Given the description of an element on the screen output the (x, y) to click on. 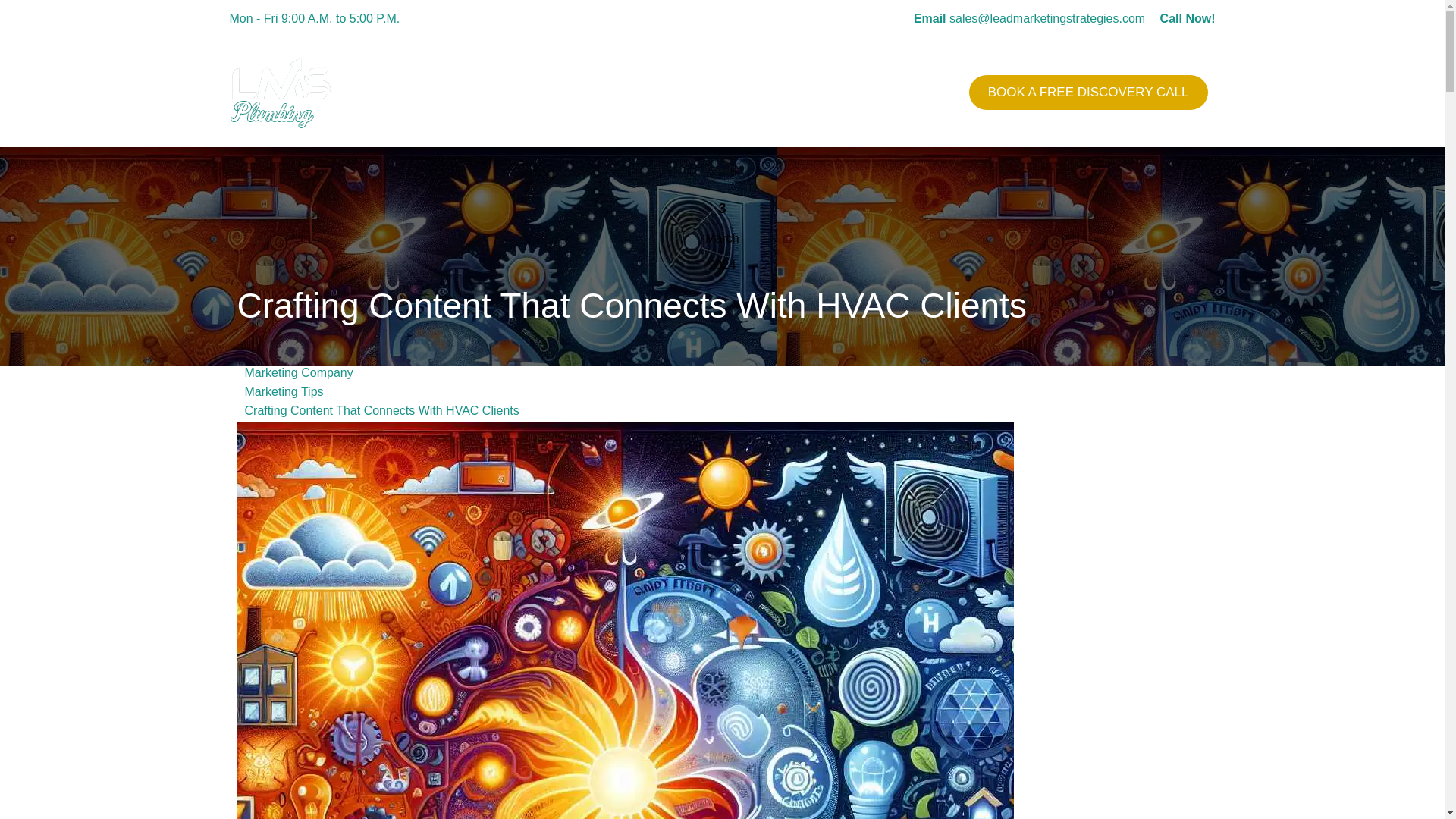
Services (800, 92)
Home (733, 92)
Tips (863, 92)
BOOK A FREE DISCOVERY CALL (1087, 92)
Call Now! (1187, 18)
CONTACT (922, 92)
Marketing Tips (283, 391)
Crafting Content That Connects With HVAC Clients (381, 410)
Contact (922, 92)
HOME (733, 92)
Marketing Company (298, 372)
SERVICES (800, 92)
TIPS (863, 92)
